Given the description of an element on the screen output the (x, y) to click on. 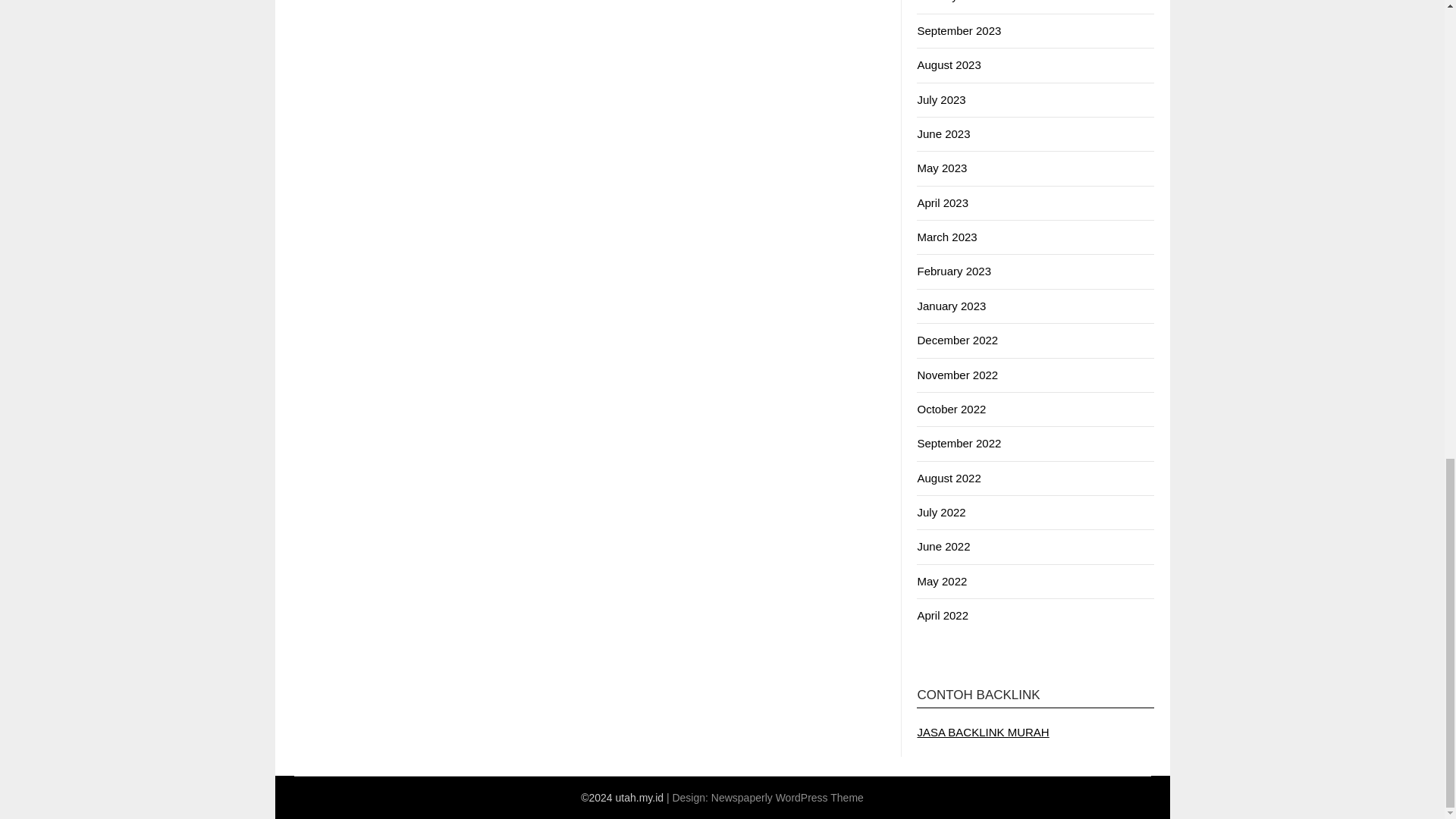
May 2023 (941, 167)
September 2023 (959, 30)
August 2023 (948, 64)
January 2024 (951, 1)
July 2023 (941, 99)
April 2023 (942, 202)
June 2023 (943, 133)
